Given the description of an element on the screen output the (x, y) to click on. 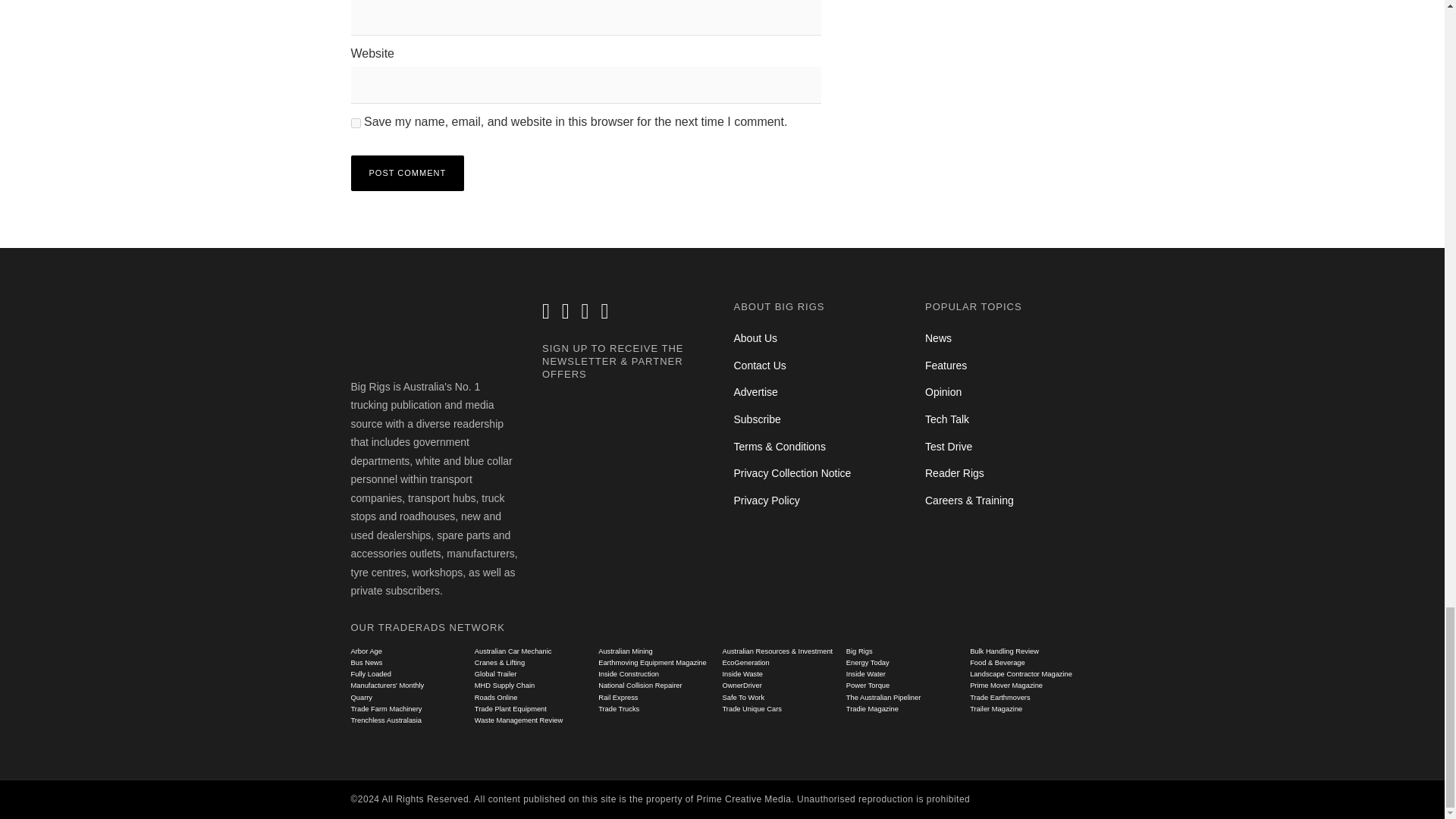
yes (354, 122)
Post Comment (407, 172)
